Given the description of an element on the screen output the (x, y) to click on. 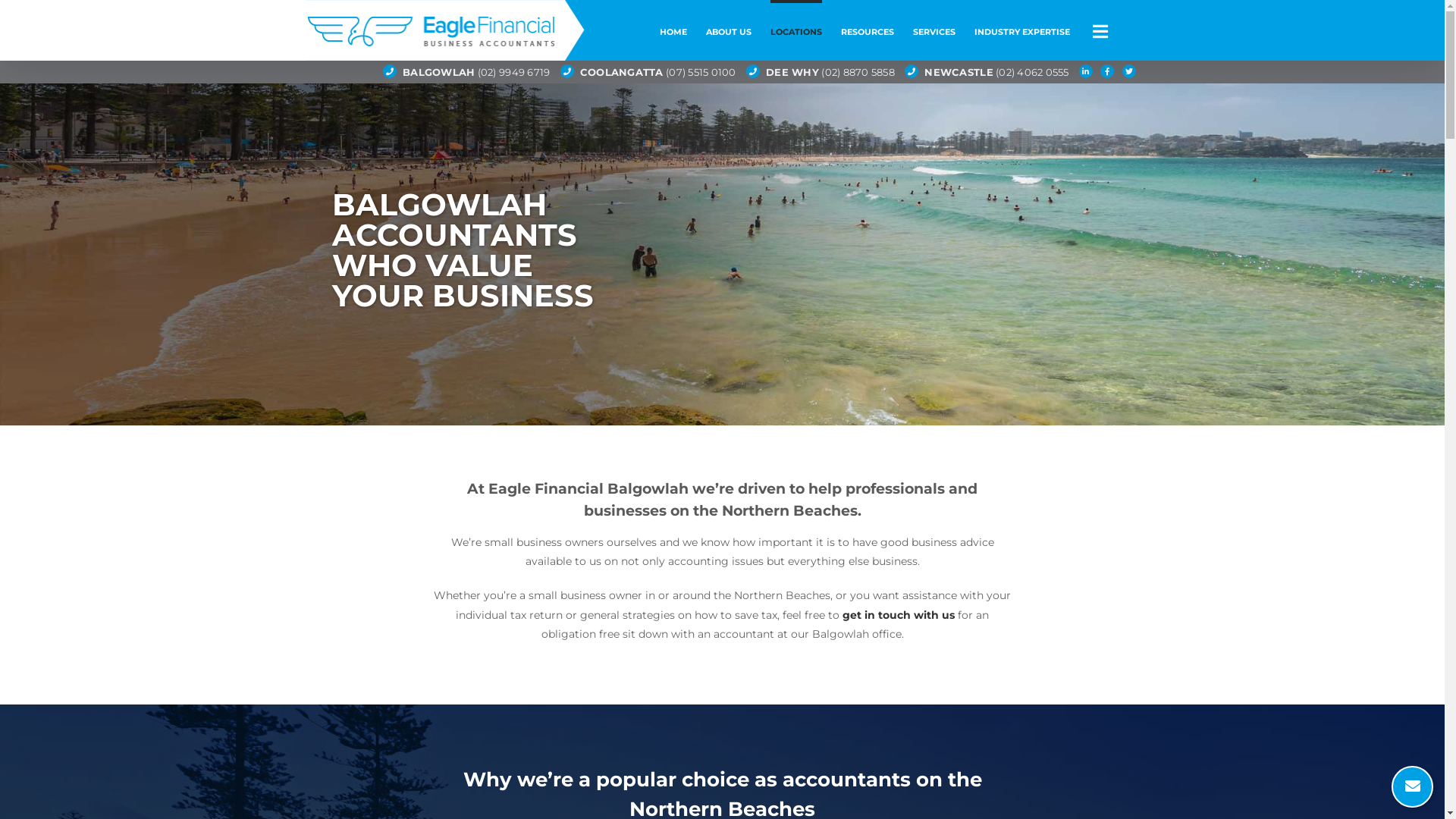
HOME Element type: text (673, 30)
DEE WHY (02) 8870 5858 Element type: text (829, 71)
ABOUT US Element type: text (728, 30)
BALGOWLAH (02) 9949 6719 Element type: text (475, 71)
SERVICES Element type: text (934, 30)
LOCATIONS Element type: text (796, 30)
NEWCASTLE (02) 4062 0555 Element type: text (996, 71)
RESOURCES Element type: text (867, 30)
get in touch with us Element type: text (898, 614)
INDUSTRY EXPERTISE Element type: text (1022, 30)
COOLANGATTA (07) 5515 0100 Element type: text (658, 71)
